Given the description of an element on the screen output the (x, y) to click on. 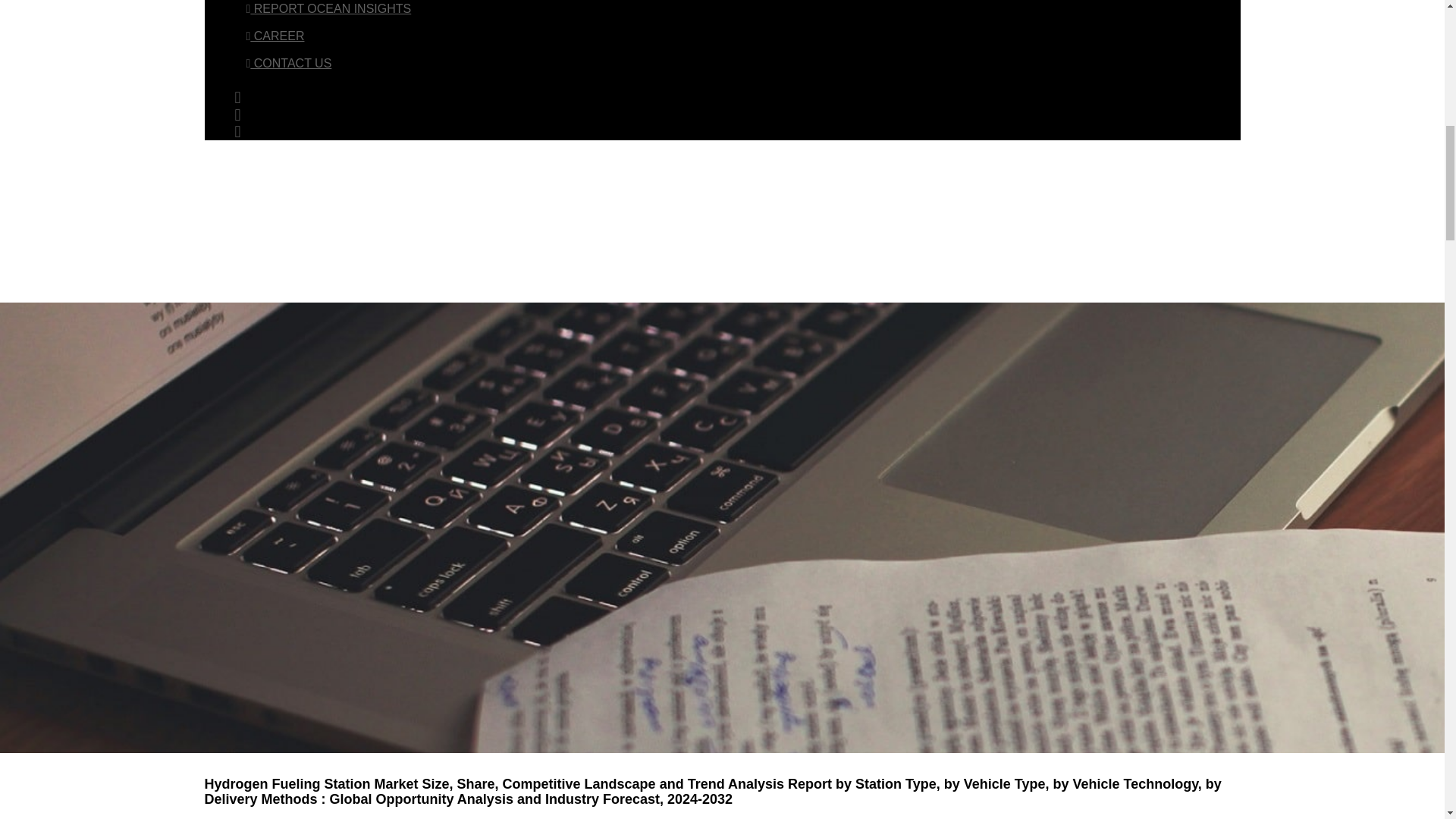
CONTACT US (288, 62)
REPORT OCEAN INSIGHTS (328, 8)
CAREER (275, 35)
